Given the description of an element on the screen output the (x, y) to click on. 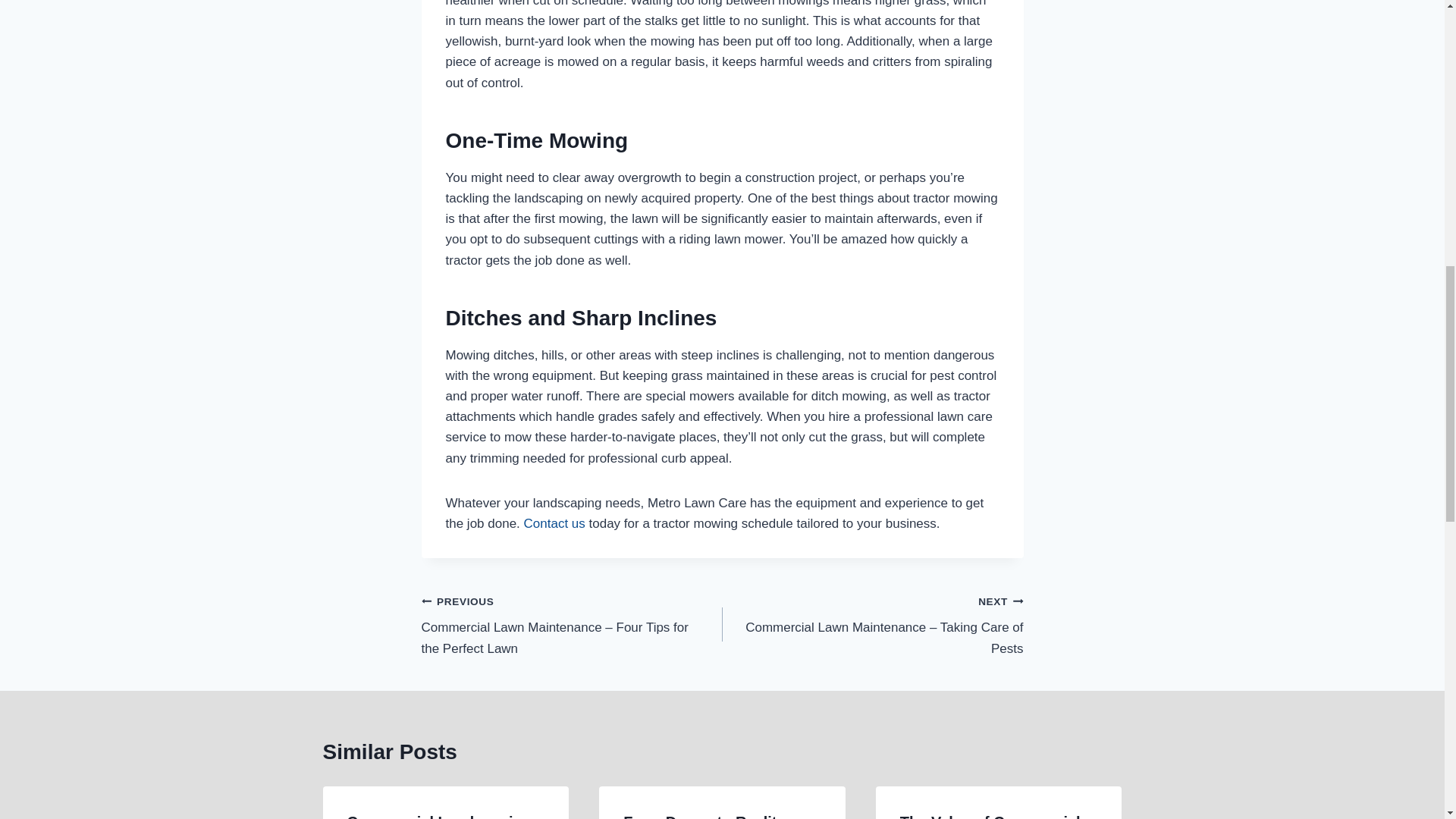
The Value of Commercial Landscape Construction Planning (989, 816)
Contact us (554, 523)
Commercial Landscaping Can Enhance Your Business (439, 816)
